Given the description of an element on the screen output the (x, y) to click on. 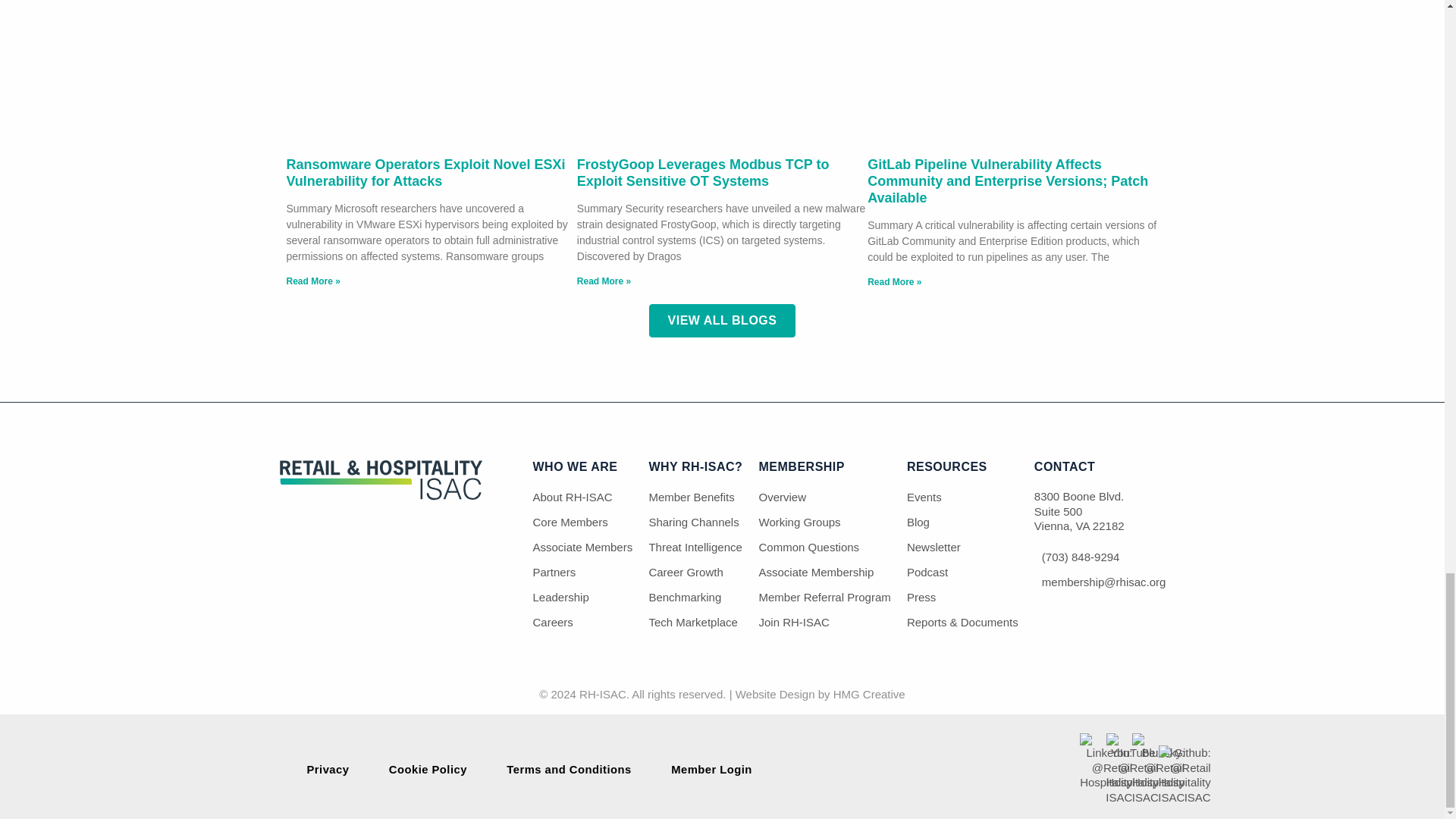
RH-ISAC (381, 495)
Terms and Conditions  (568, 769)
Privacy Policy (327, 769)
Cookie Policy  (427, 769)
